Given the description of an element on the screen output the (x, y) to click on. 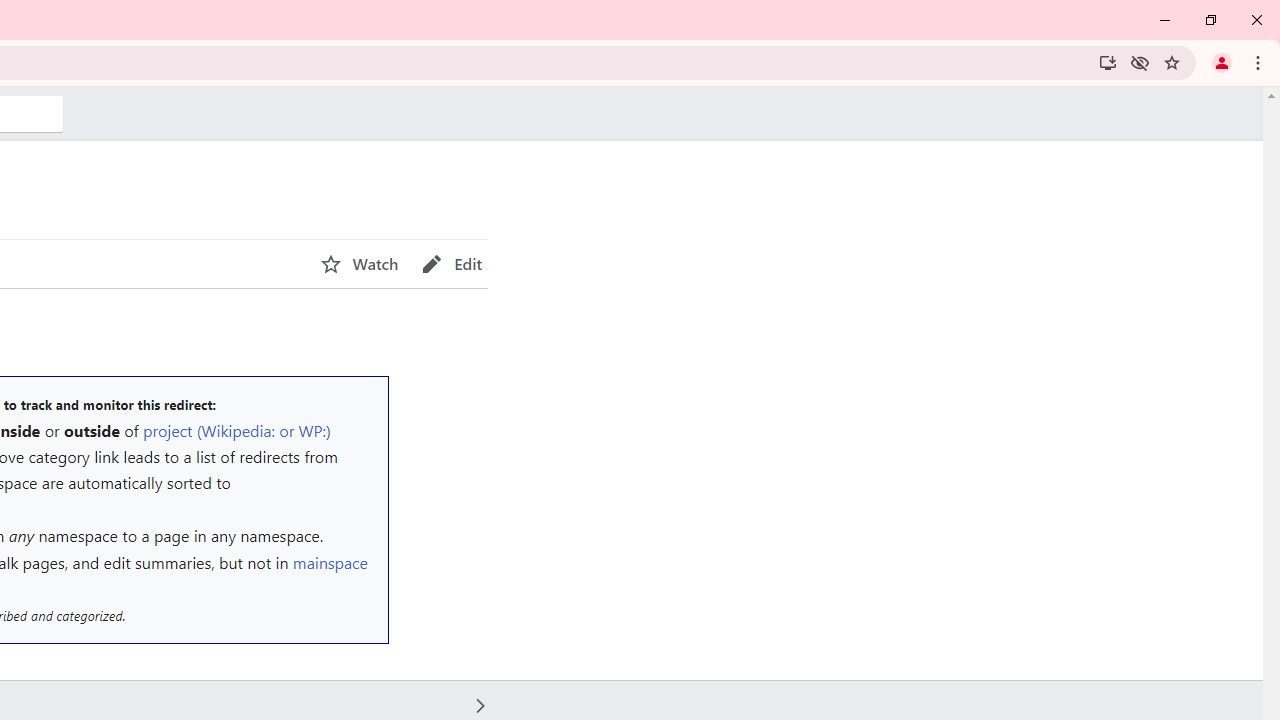
mainspace (329, 561)
Edit (452, 264)
AutomationID: page-actions-watch (359, 263)
Install Wikipedia (1107, 62)
Watch (359, 264)
AutomationID: page-actions-edit (452, 263)
